Given the description of an element on the screen output the (x, y) to click on. 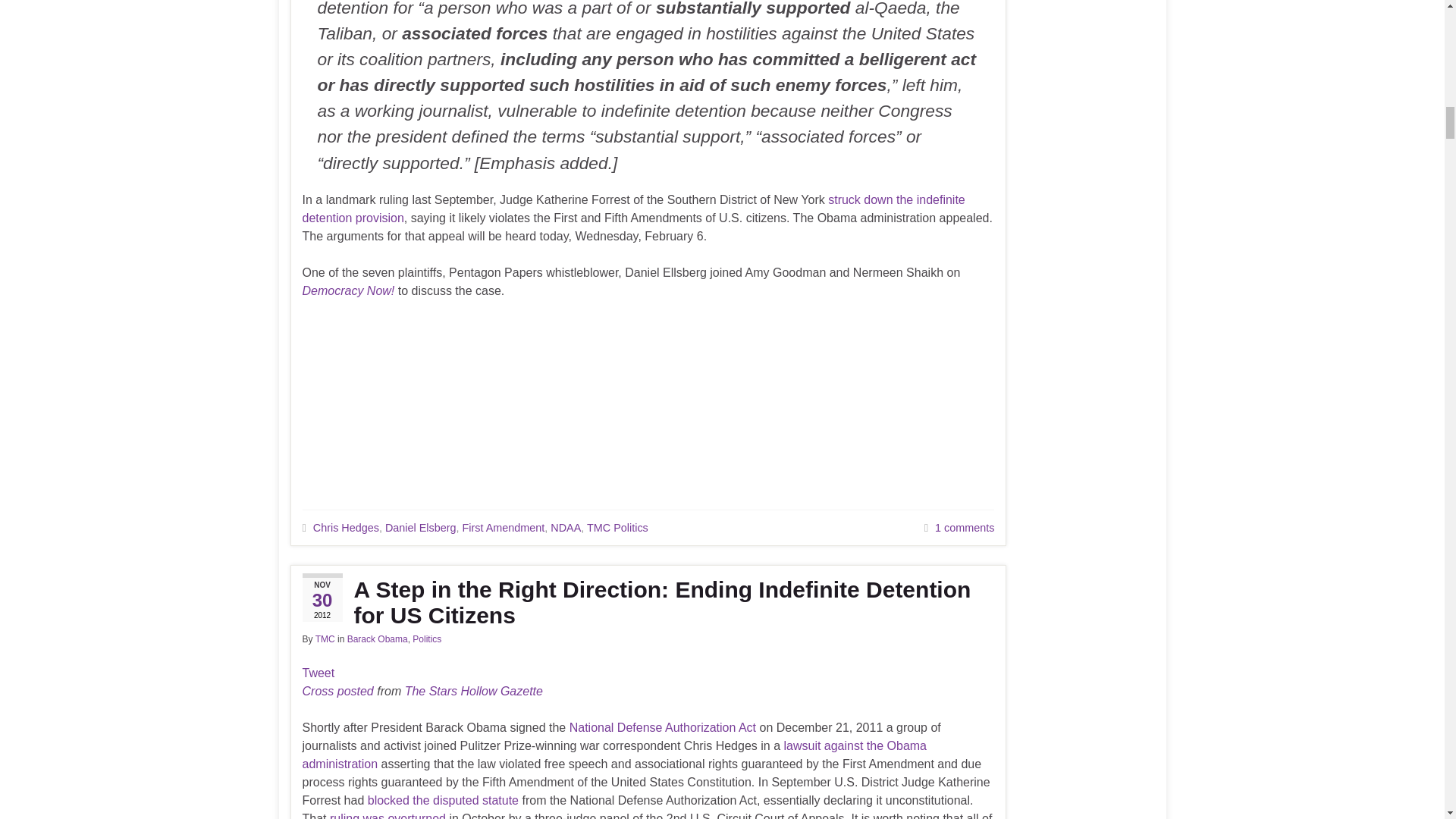
Daniel Elsberg (421, 527)
Democracy Now! (347, 290)
struck down the indefinite detention provision (632, 208)
Chris Hedges (345, 527)
NDAA (565, 527)
First Amendment (503, 527)
